Given the description of an element on the screen output the (x, y) to click on. 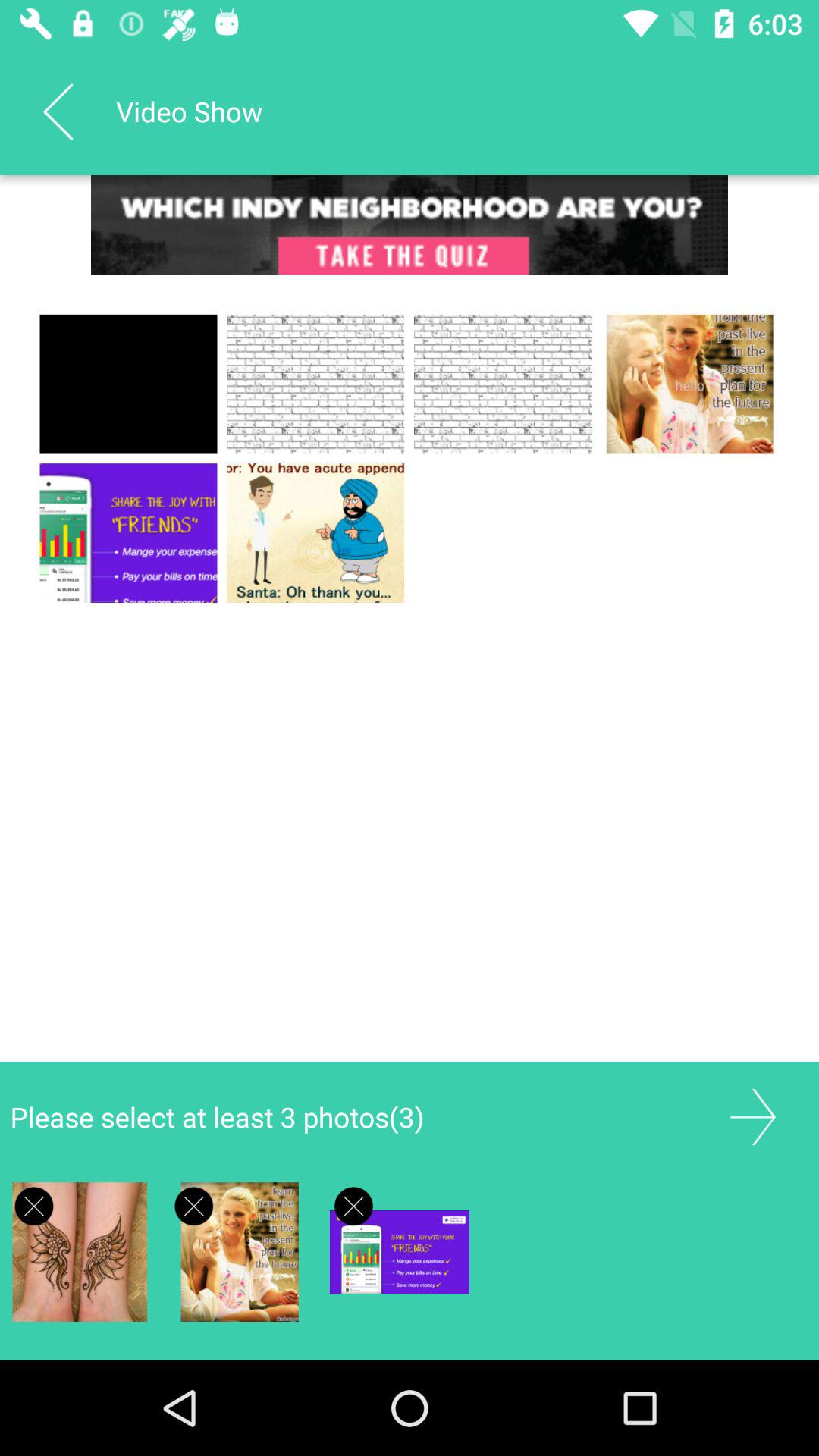
close (34, 1206)
